Given the description of an element on the screen output the (x, y) to click on. 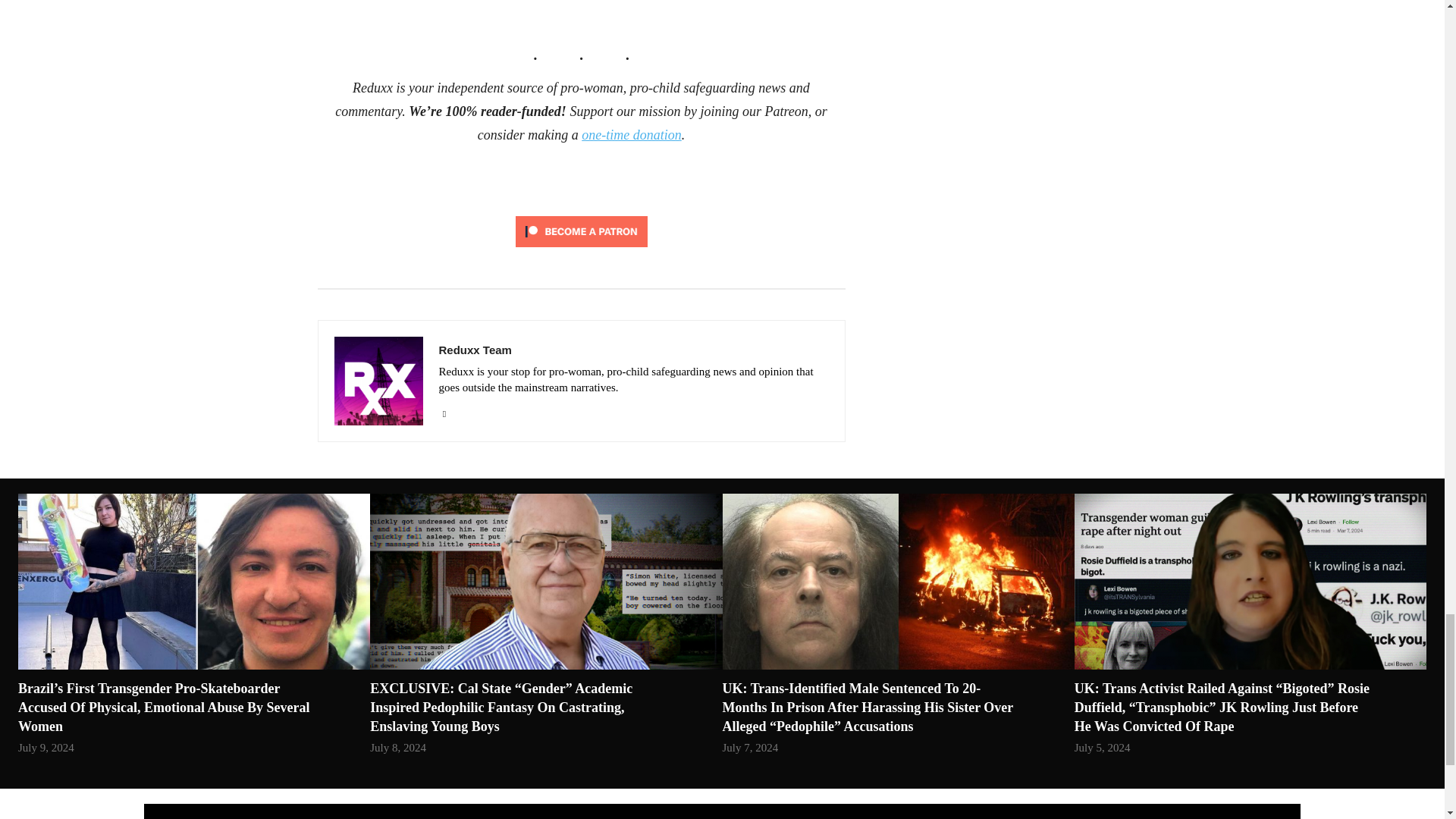
Reduxx Team (633, 349)
Reduxx Team (377, 380)
one-time donation (630, 134)
